Given the description of an element on the screen output the (x, y) to click on. 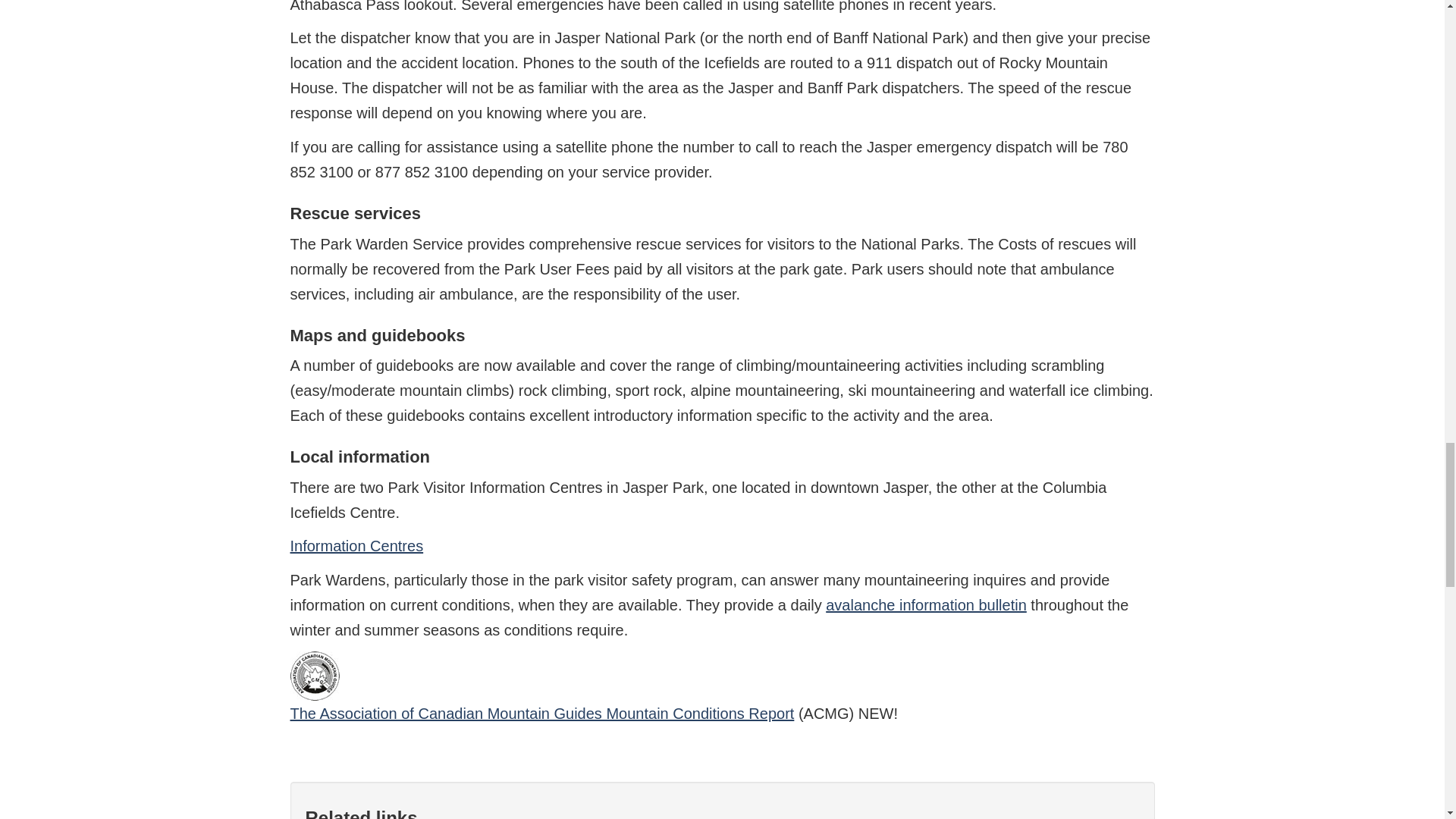
avalanche information bulletin (925, 605)
Information Centres (356, 545)
